Given the description of an element on the screen output the (x, y) to click on. 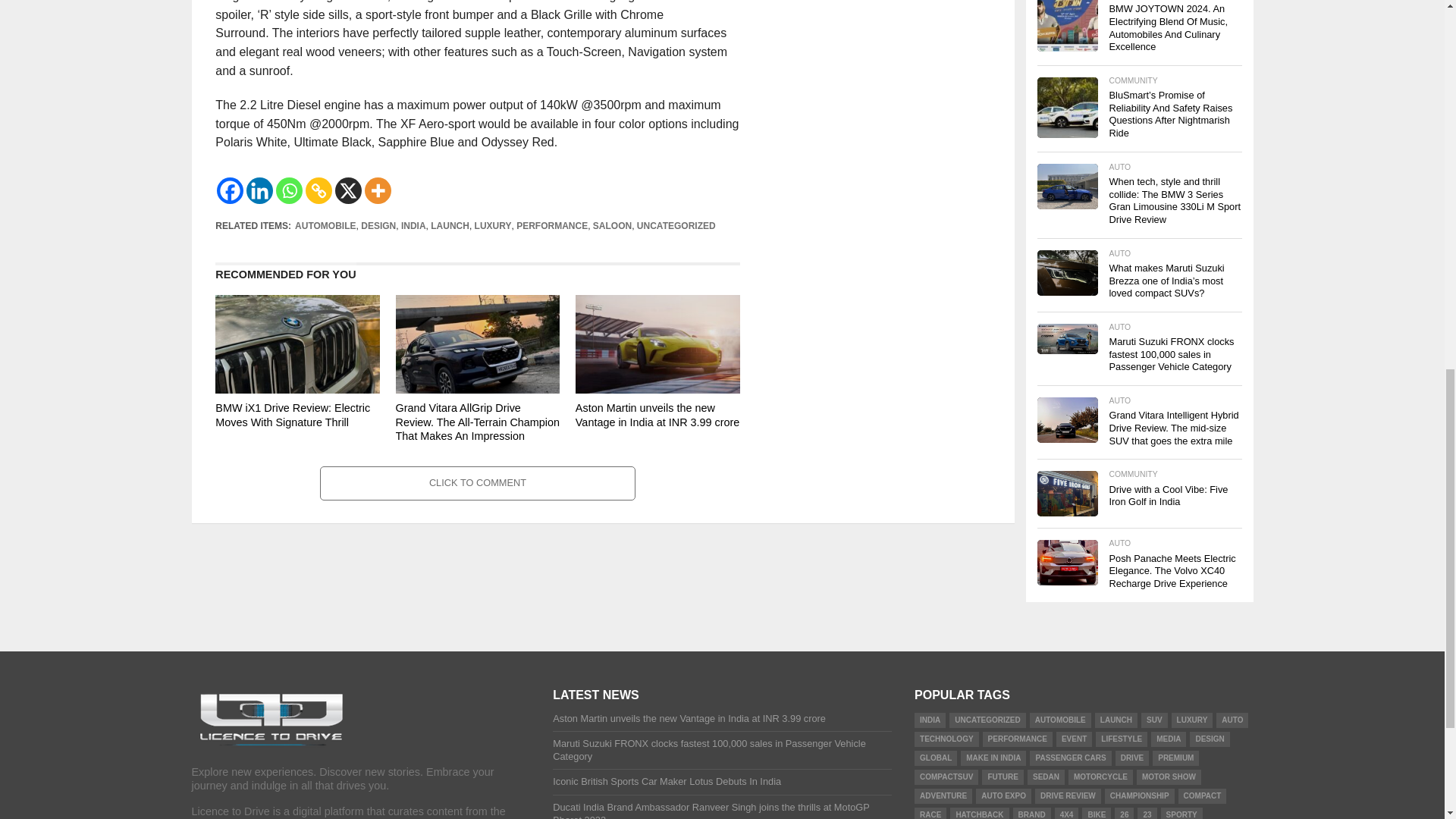
More (378, 190)
Linkedin (259, 190)
BMW iX1 Drive Review: Electric Moves With Signature Thrill (297, 389)
X (347, 190)
Facebook (229, 190)
Whatsapp (289, 190)
Copy Link (318, 190)
